Given the description of an element on the screen output the (x, y) to click on. 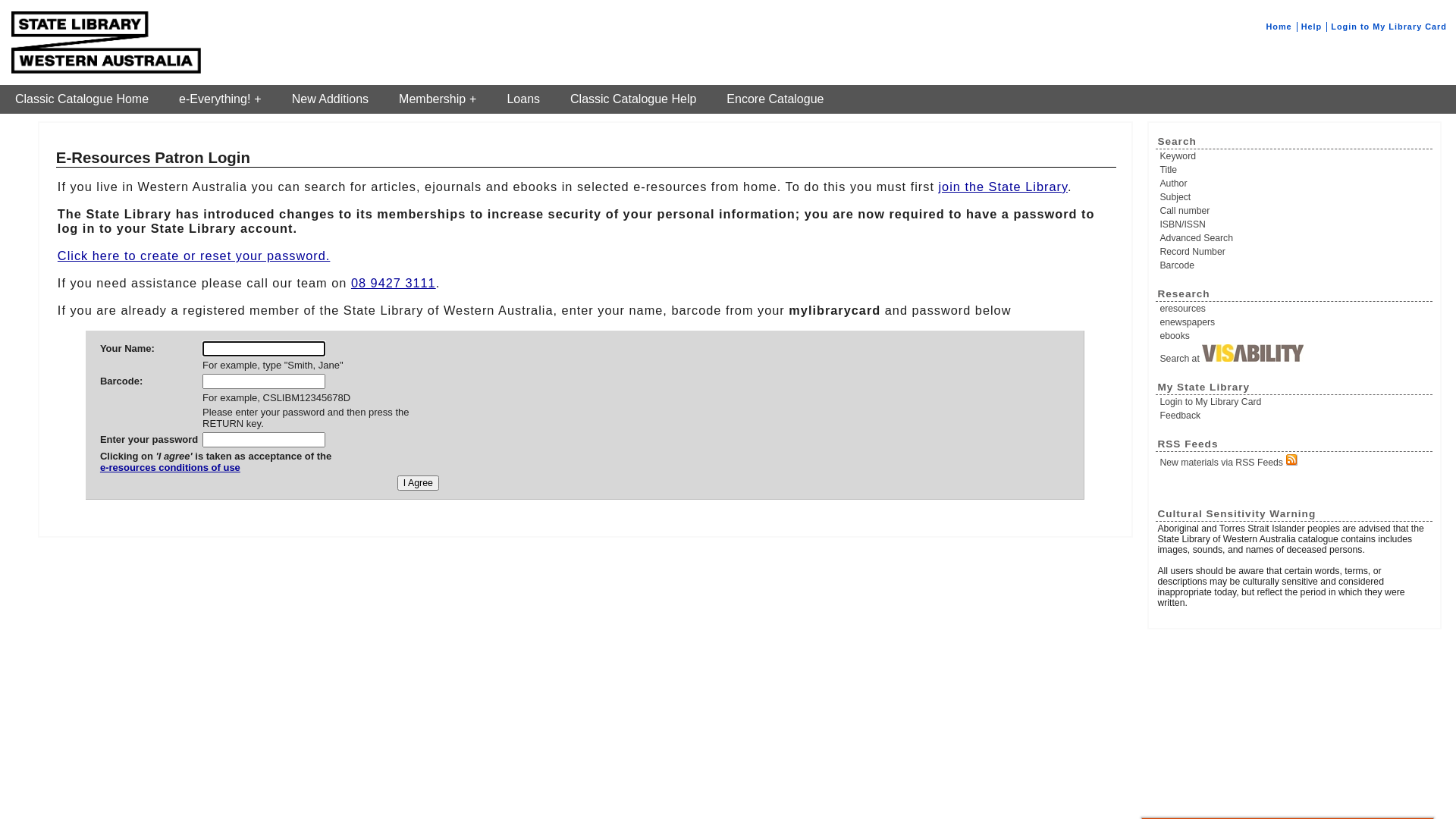
Click here to create or reset your password. Element type: text (193, 255)
Encore Catalogue Element type: text (774, 98)
Advanced Search Element type: text (1294, 237)
Subject Element type: text (1294, 196)
Record Number Element type: text (1294, 251)
Login to My Library Card Element type: text (1294, 401)
Help Element type: text (1311, 26)
Membership Element type: text (437, 98)
New materials via RSS Feeds Element type: text (1294, 460)
Barcode Element type: text (1294, 265)
Keyword Element type: text (1294, 155)
ISBN/ISSN Element type: text (1294, 224)
Author Element type: text (1294, 183)
e-resources conditions of use Element type: text (215, 472)
Loans Element type: text (523, 98)
Login to My Library Card Element type: text (1388, 26)
Home Element type: text (1278, 26)
Classic Catalogue Home Element type: text (81, 98)
I Agree Element type: text (418, 482)
New Additions Element type: text (329, 98)
Classic Catalogue Help Element type: text (633, 98)
enewspapers Element type: text (1294, 321)
Title Element type: text (1294, 169)
08 9427 3111 Element type: text (393, 282)
Feedback Element type: text (1294, 415)
Search at Element type: text (1294, 354)
e-Everything! Element type: text (219, 98)
ebooks Element type: text (1294, 335)
eresources Element type: text (1294, 308)
join the State Library Element type: text (1002, 186)
Call number Element type: text (1294, 210)
